Given the description of an element on the screen output the (x, y) to click on. 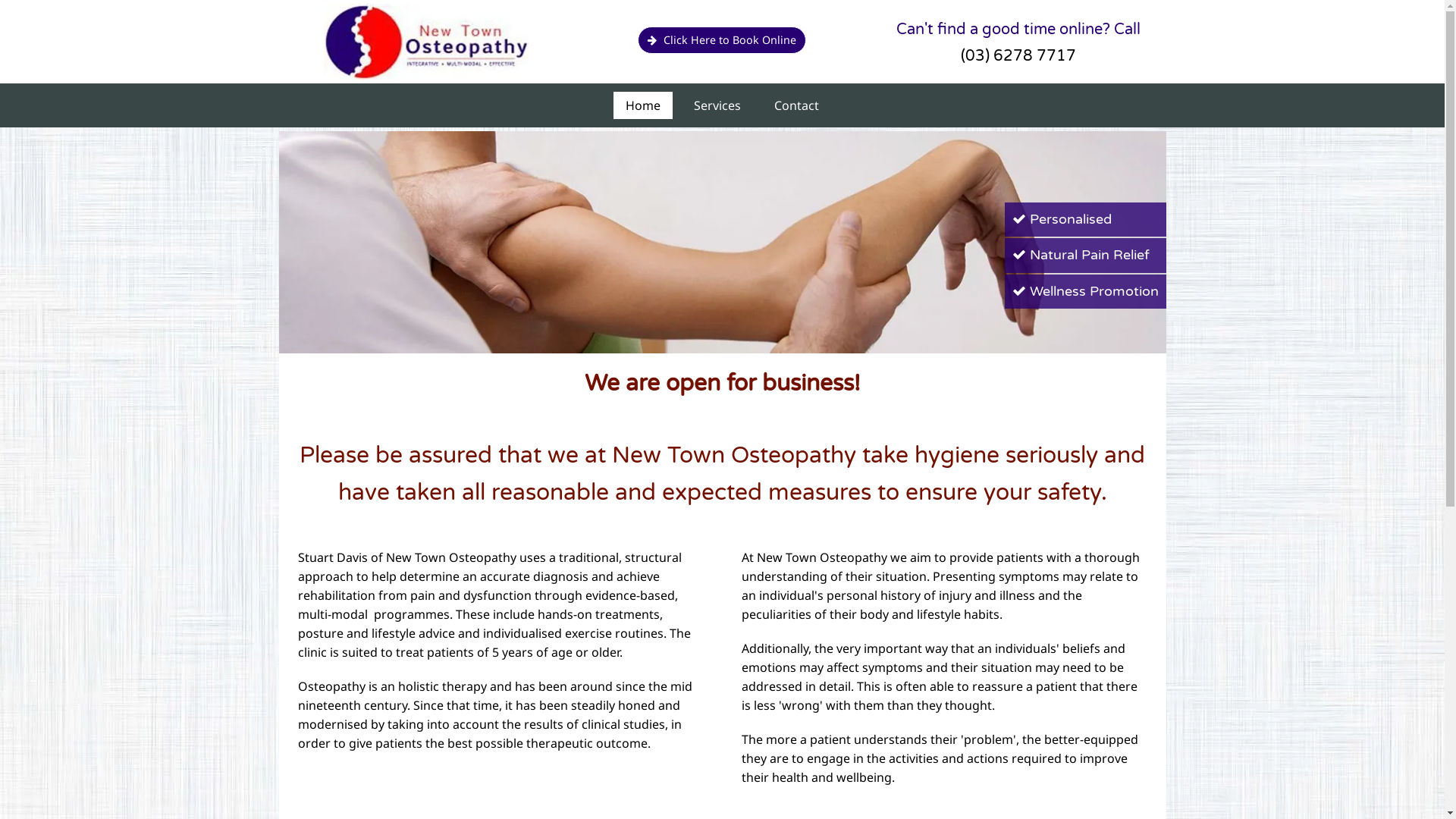
Home Element type: text (642, 105)
Contact Element type: text (796, 105)
Services Element type: text (717, 105)
(03) 6278 7717 Element type: text (1018, 56)
Osteopathic treatment on the arm in New Town Element type: hover (722, 242)
New Town Osteopathy Logo Element type: hover (425, 41)
